Given the description of an element on the screen output the (x, y) to click on. 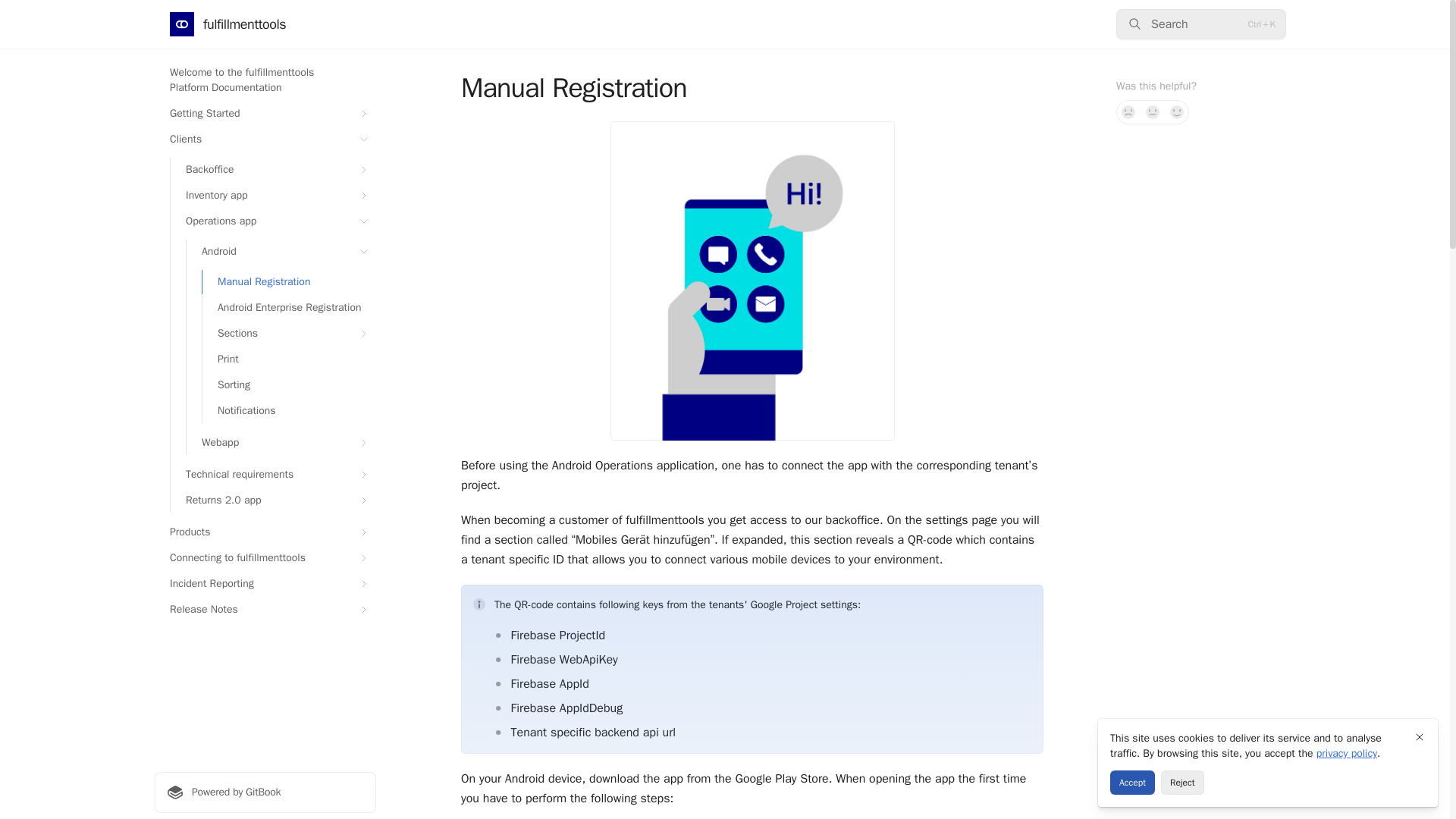
No (1128, 111)
Welcome to the fulfillmenttools Platform Documentation (264, 79)
Not sure (1152, 111)
Backoffice (272, 169)
Clients (264, 139)
Yes, it was! (1176, 111)
Close (1419, 737)
Getting Started (264, 113)
fulfillmenttools (227, 24)
